Given the description of an element on the screen output the (x, y) to click on. 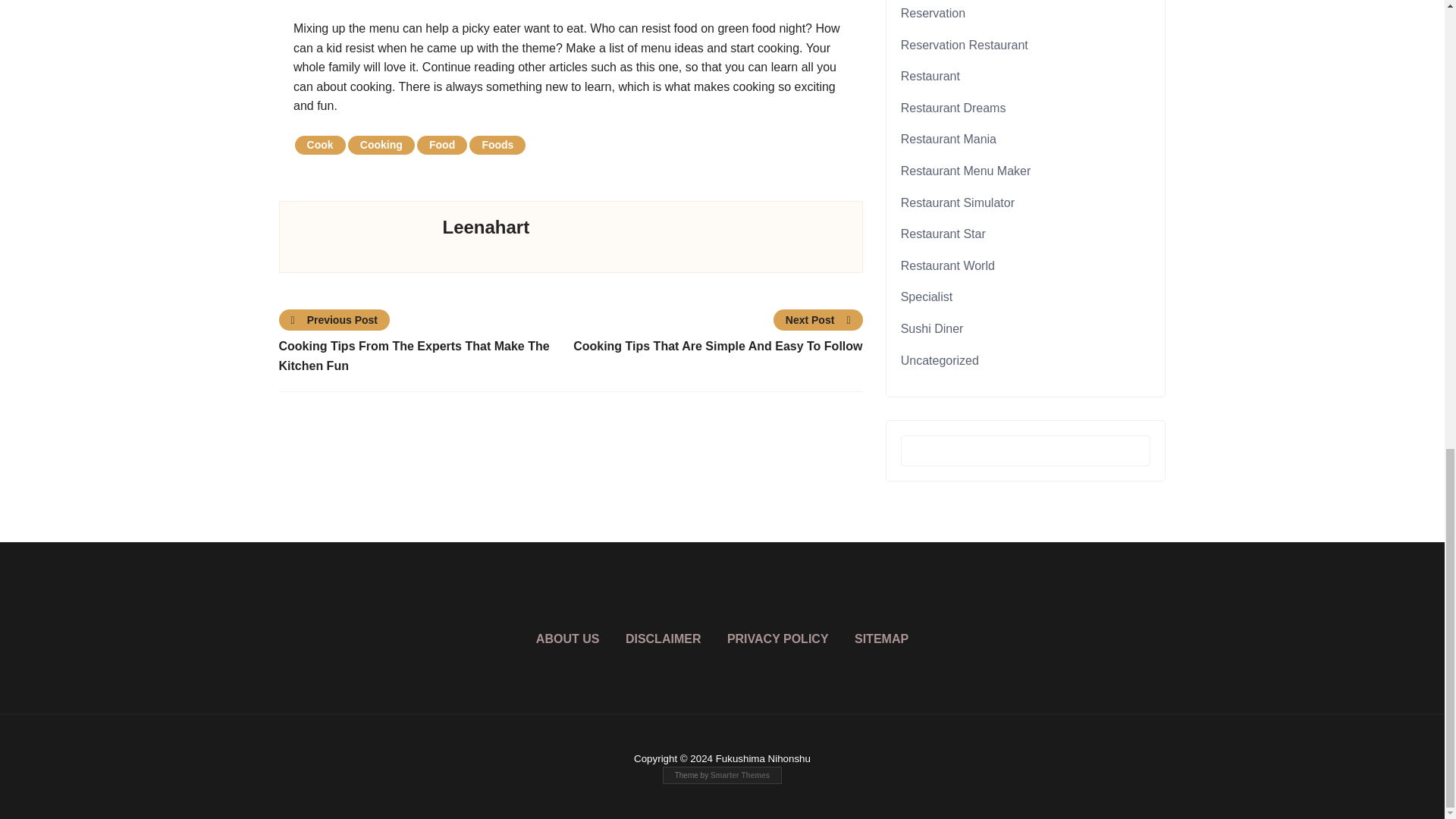
Next Post (818, 320)
Cooking Tips From The Experts That Make The Kitchen Fun (424, 355)
Foods (496, 145)
Previous Post (334, 320)
Cooking Tips That Are Simple And Easy To Follow (715, 346)
Cooking (380, 145)
Cook (320, 145)
Food (441, 145)
